Given the description of an element on the screen output the (x, y) to click on. 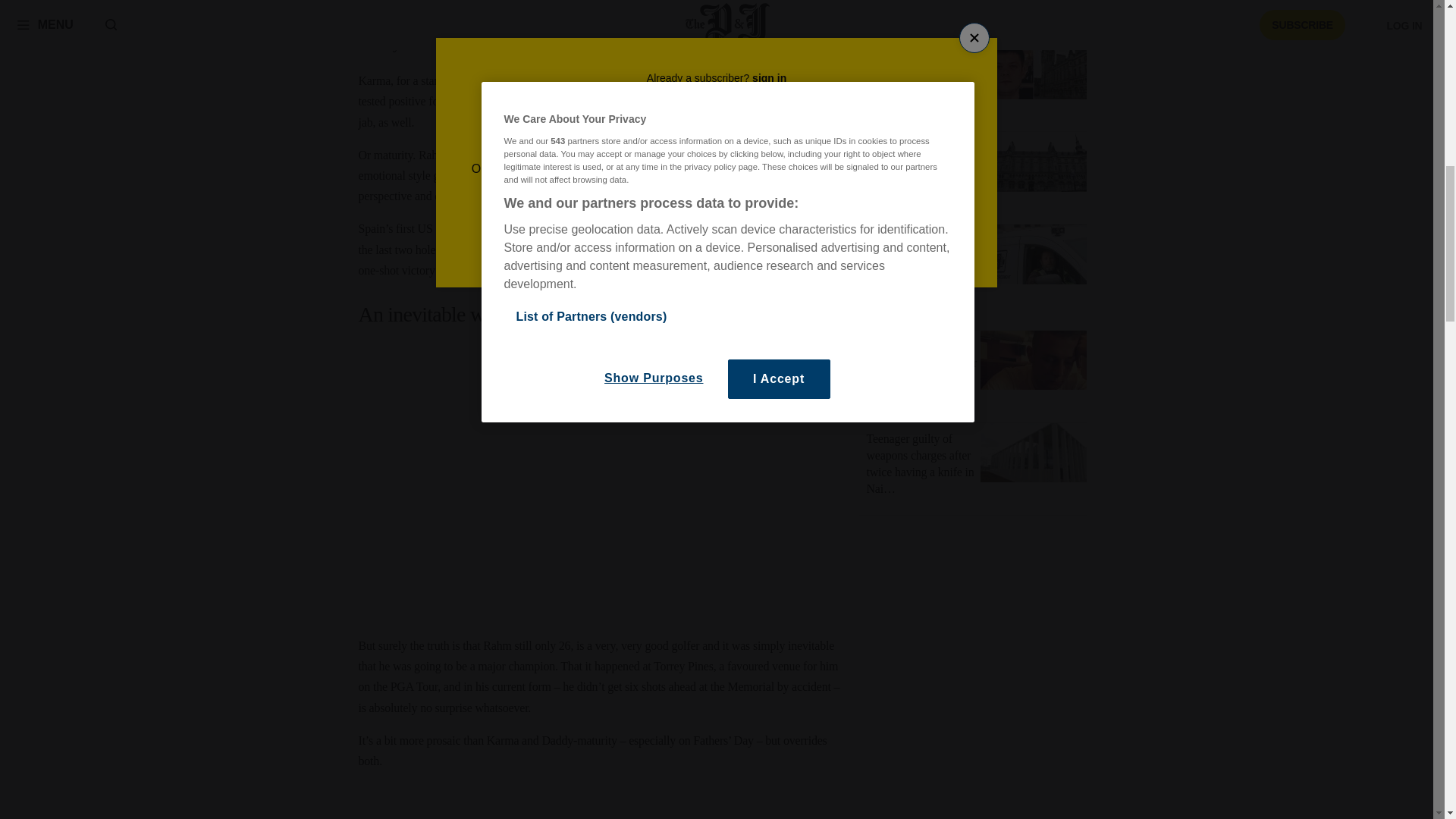
4 (876, 307)
